Given the description of an element on the screen output the (x, y) to click on. 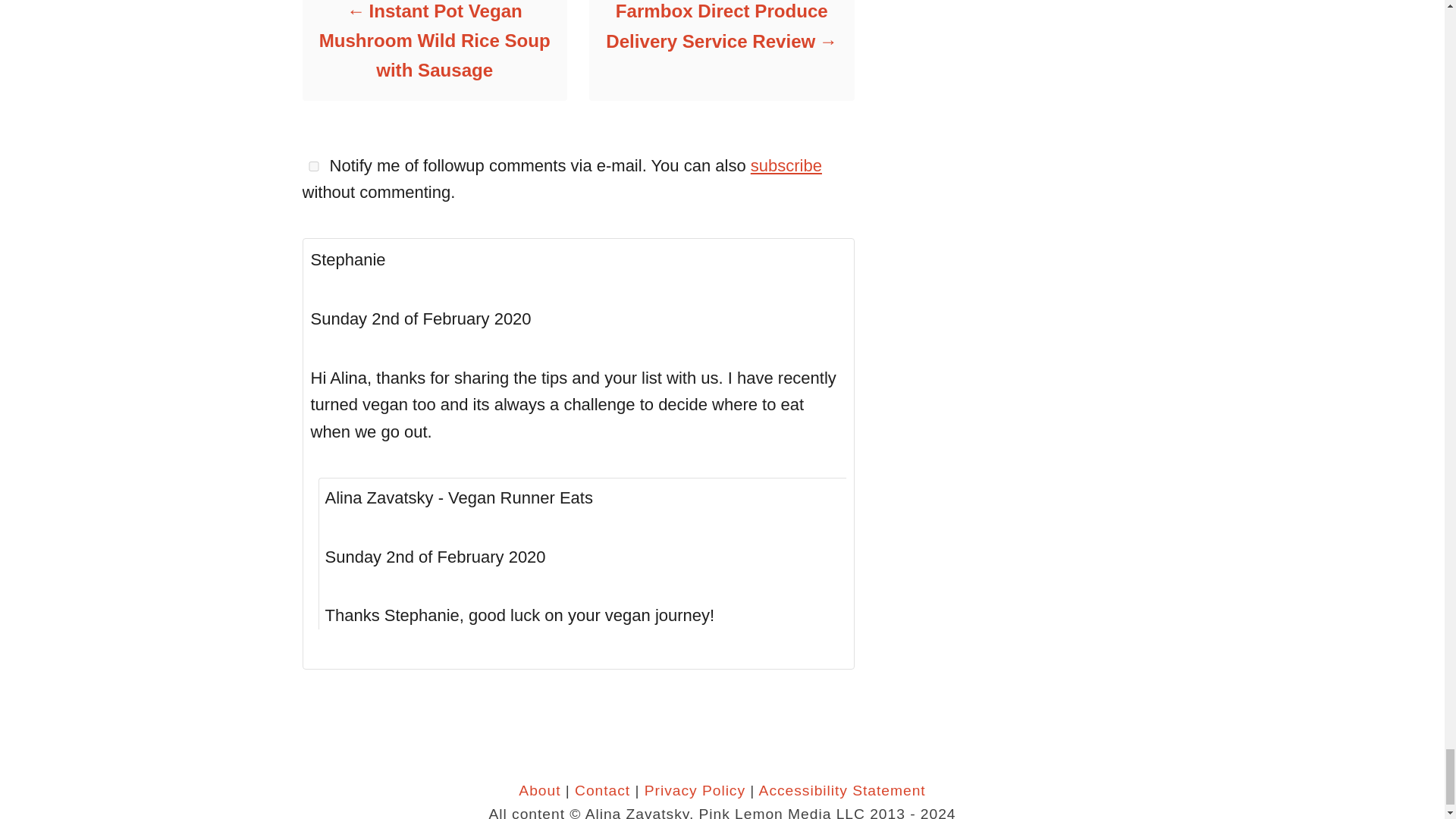
yes (312, 166)
